Given the description of an element on the screen output the (x, y) to click on. 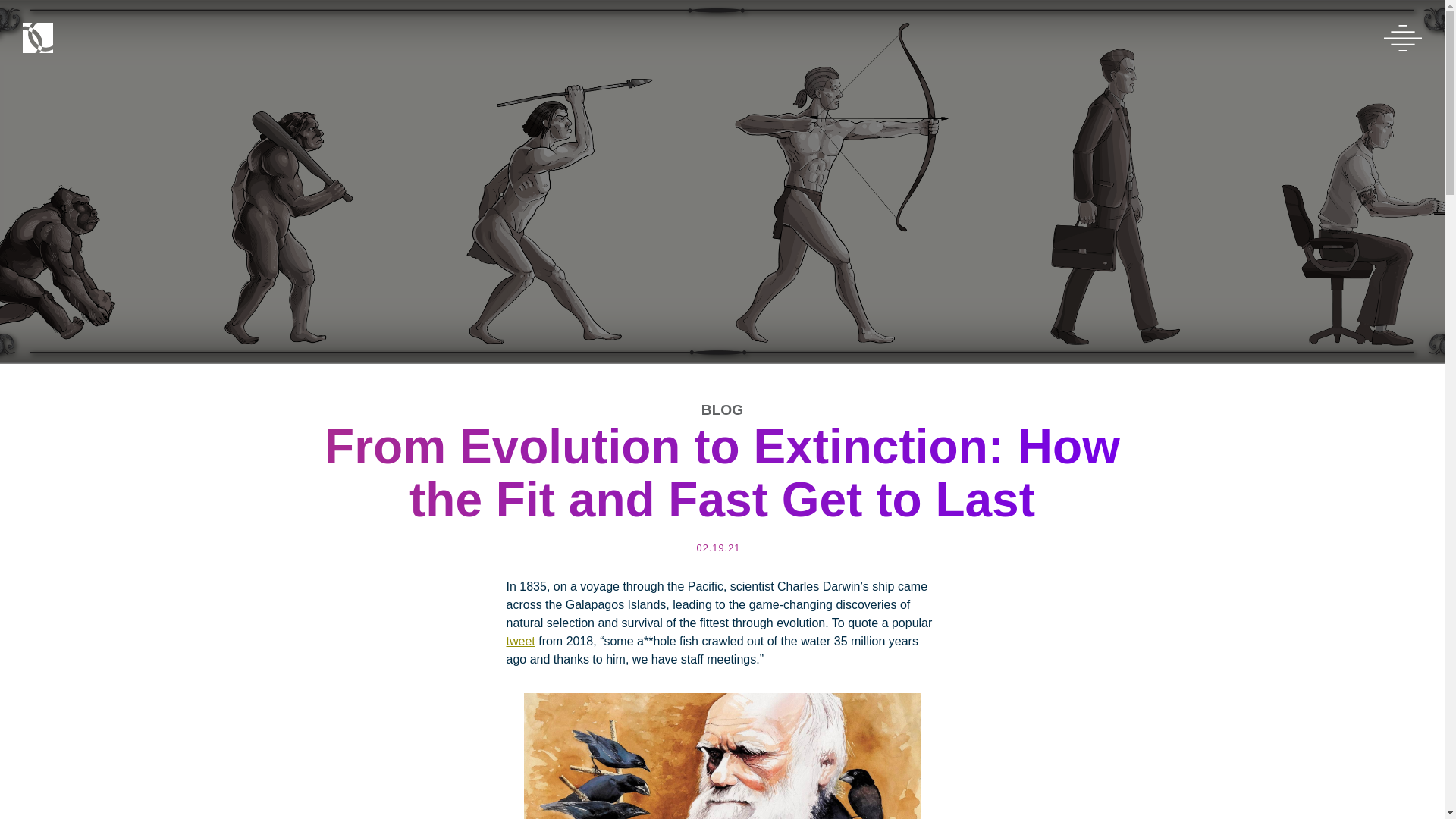
tweet (520, 640)
nybooks.com (722, 749)
